Given the description of an element on the screen output the (x, y) to click on. 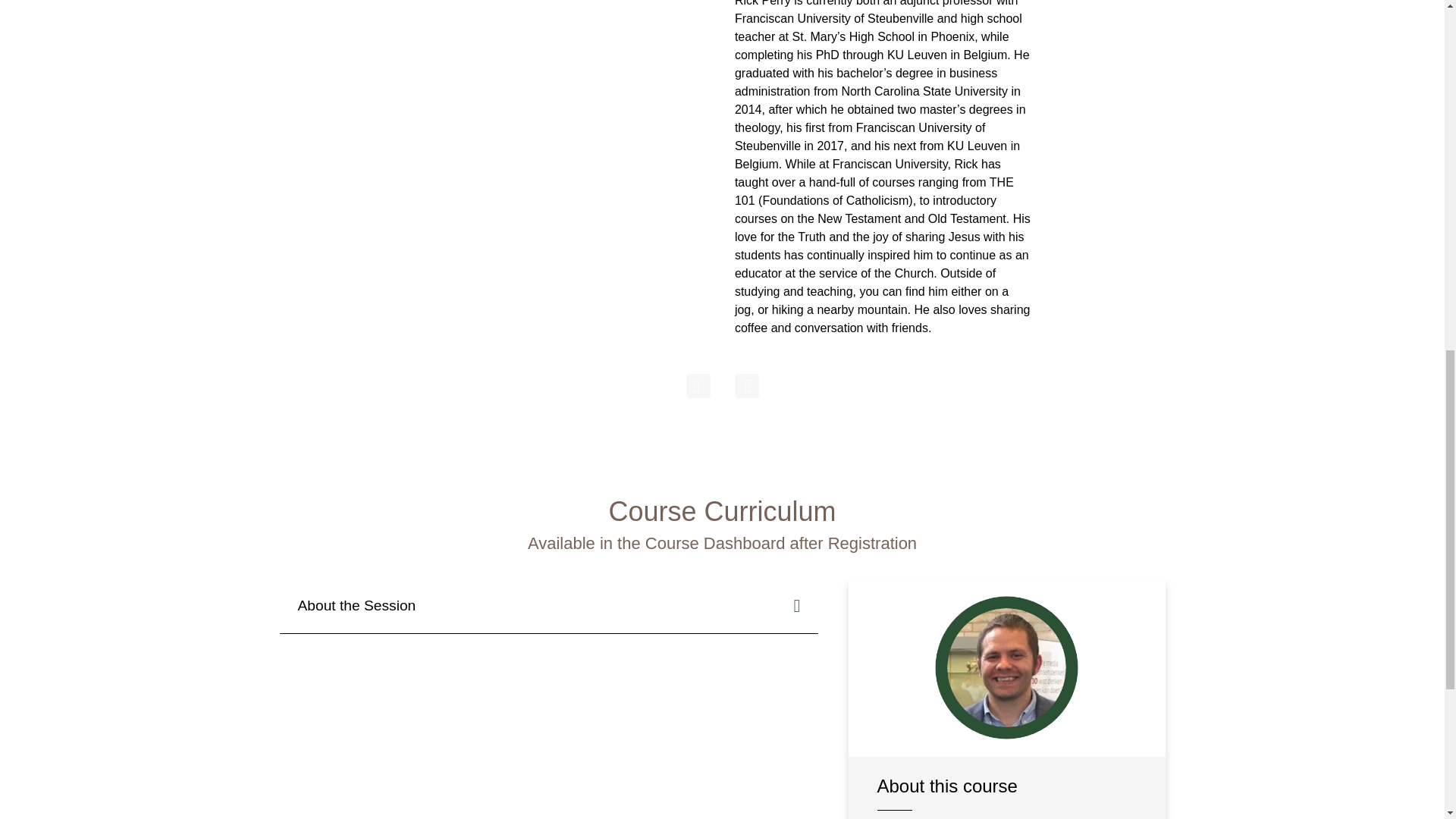
About the Session (547, 605)
